Given the description of an element on the screen output the (x, y) to click on. 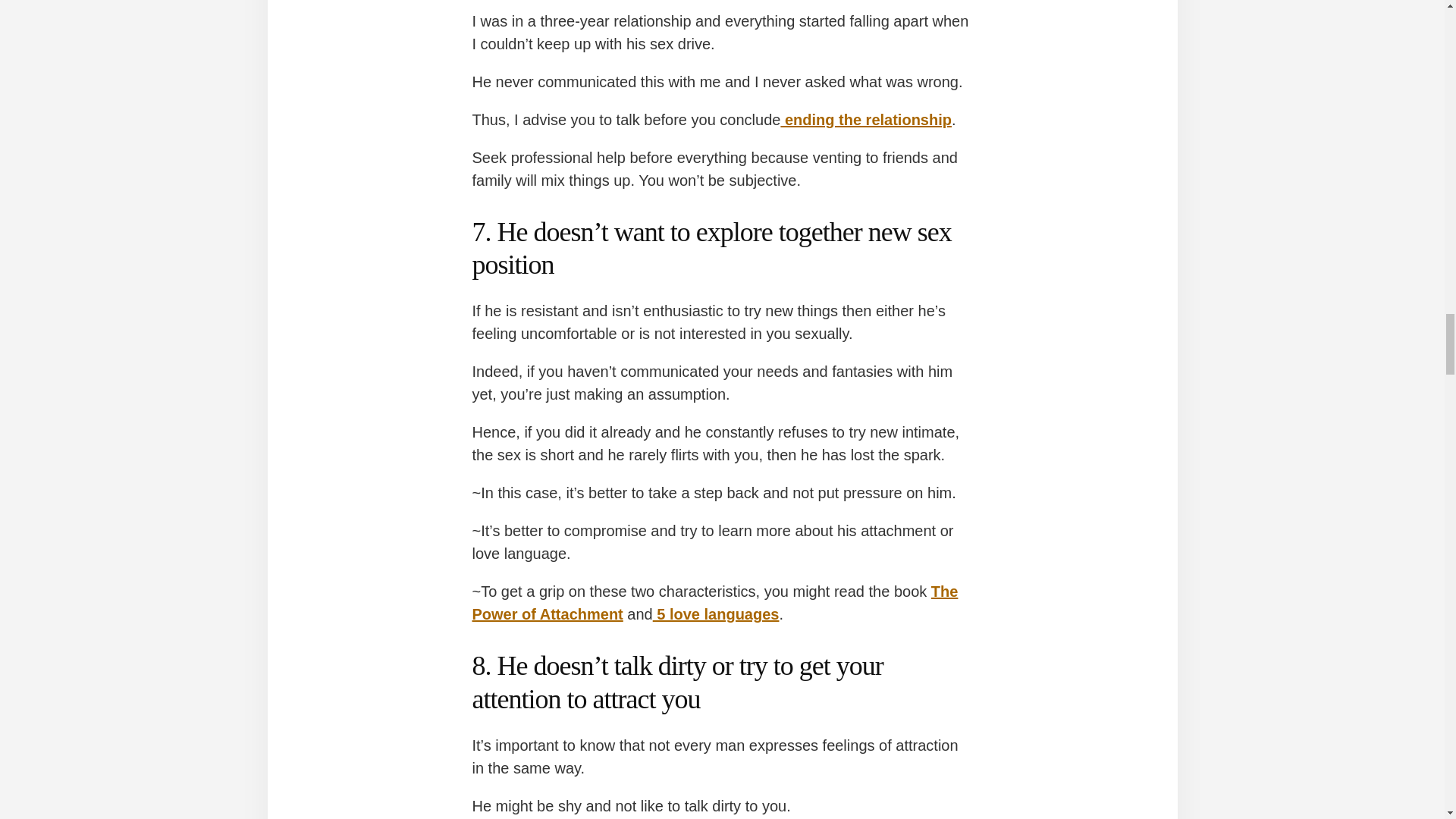
The Power of Attachment (714, 602)
ending the relationship (866, 119)
5 love languages (715, 614)
